Given the description of an element on the screen output the (x, y) to click on. 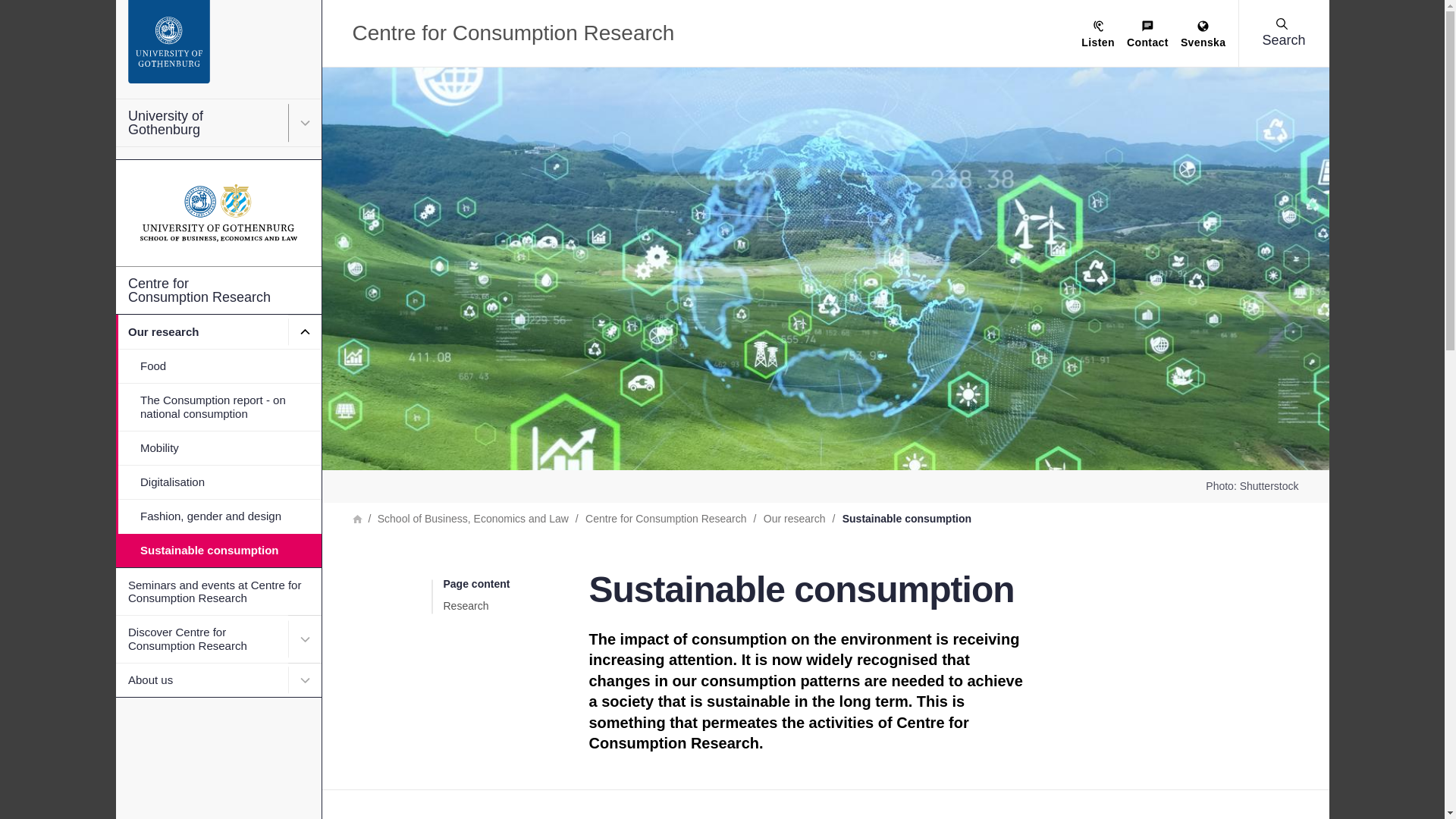
Search function (105, 11)
University of Gothenburg (217, 122)
Listen with ReadSpeaker (1098, 35)
